Given the description of an element on the screen output the (x, y) to click on. 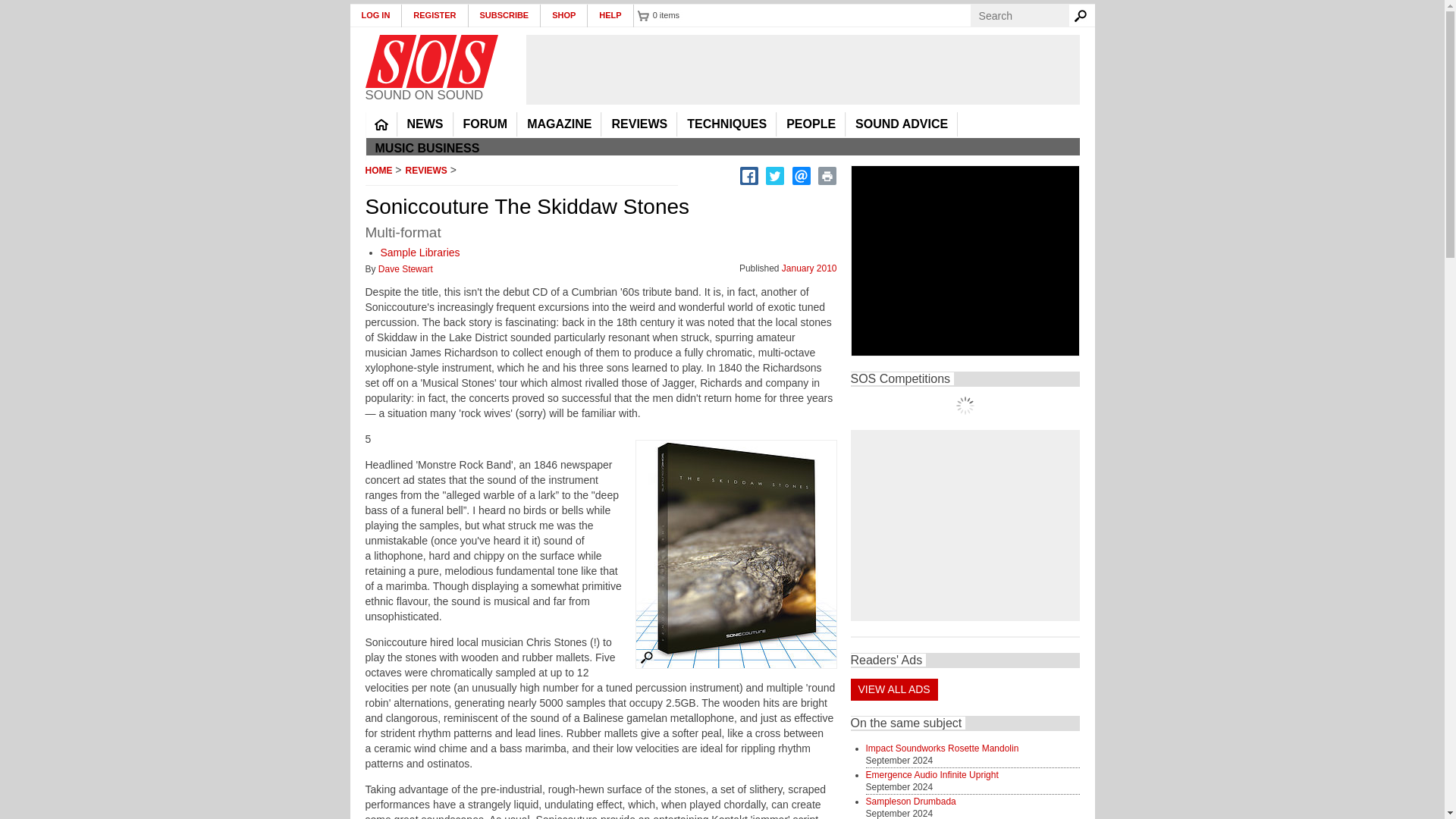
Search (1082, 15)
REGISTER (434, 15)
HELP (610, 15)
NEWS (424, 124)
SUBSCRIBE (504, 15)
Search (1082, 15)
HOME (380, 124)
REVIEWS (639, 124)
LOG IN (376, 15)
FORUM (484, 124)
